Given the description of an element on the screen output the (x, y) to click on. 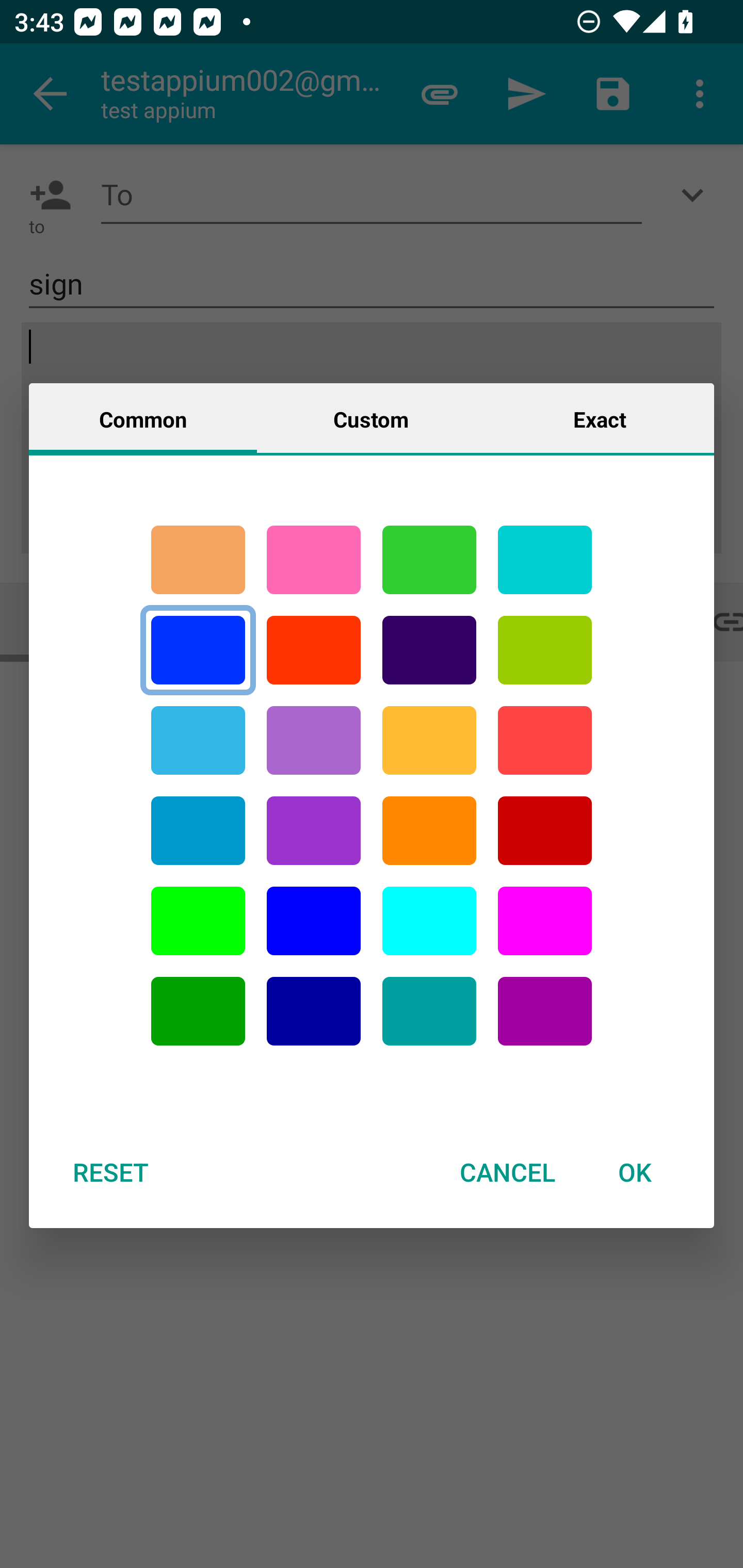
Common (142, 418)
Custom (371, 418)
Exact (599, 418)
Peach (197, 559)
Pink (313, 559)
Green (429, 559)
Cyan (544, 559)
Blue (197, 649)
Red (313, 649)
Dark purple (429, 649)
Light green (544, 649)
Cyan (197, 739)
Purple (313, 739)
Light orange (429, 739)
Light red (544, 739)
Dark cyan (197, 830)
Purple (313, 830)
Orange (429, 830)
Dark red (544, 830)
Light green (197, 920)
Blue (313, 920)
Light cyan (429, 920)
Light purple (544, 920)
Dark green (197, 1010)
Dark blue (313, 1010)
Cyan (429, 1010)
Purple (544, 1010)
RESET (110, 1171)
CANCEL (507, 1171)
OK (634, 1171)
